Given the description of an element on the screen output the (x, y) to click on. 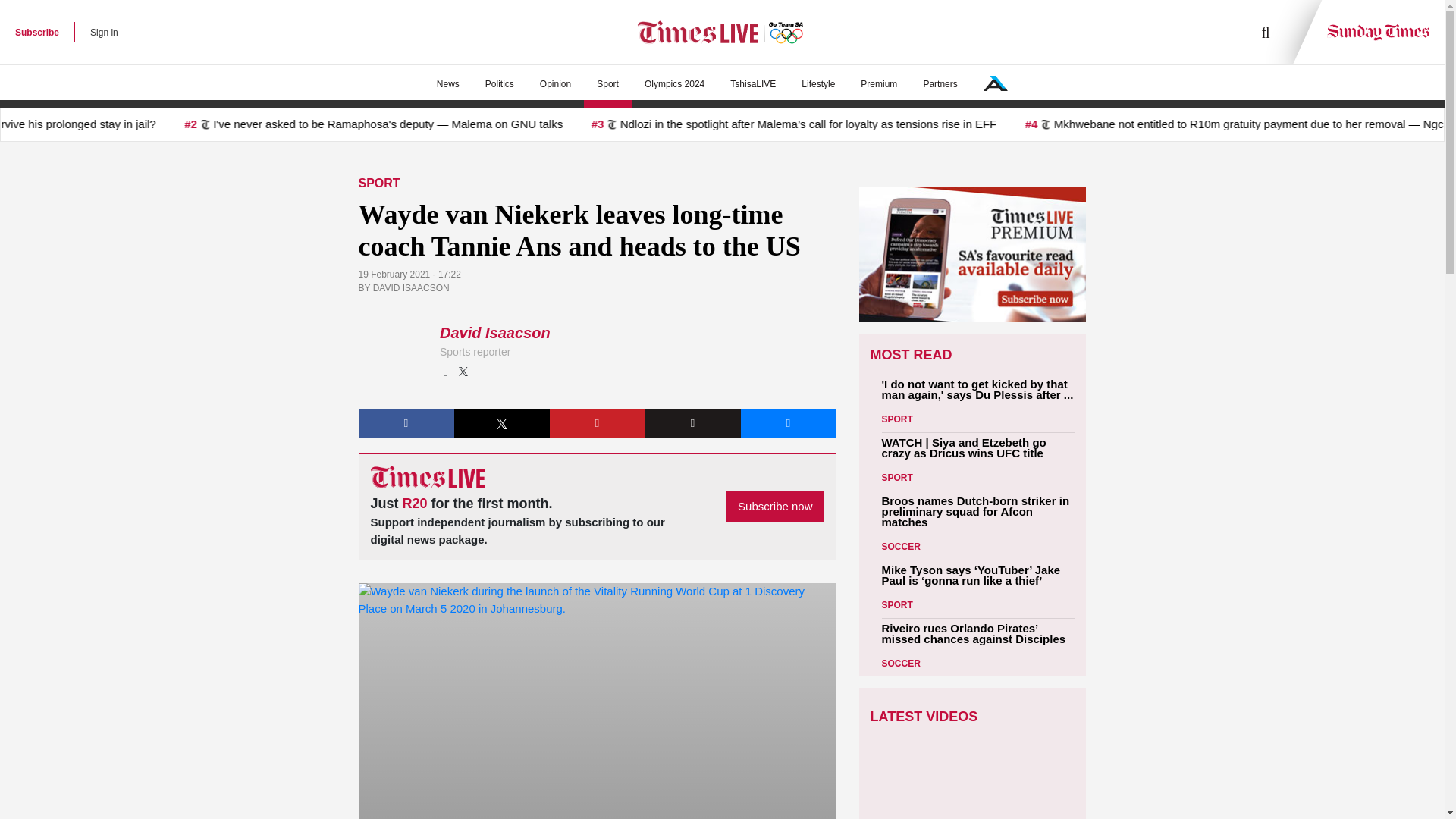
Politics (499, 84)
Our Network (995, 83)
Olympics 2024 (674, 84)
News (447, 84)
TshisaLIVE (753, 84)
Sport (607, 84)
Opinion (555, 84)
Lifestyle (818, 84)
Premium (878, 84)
Partners (939, 84)
